Given the description of an element on the screen output the (x, y) to click on. 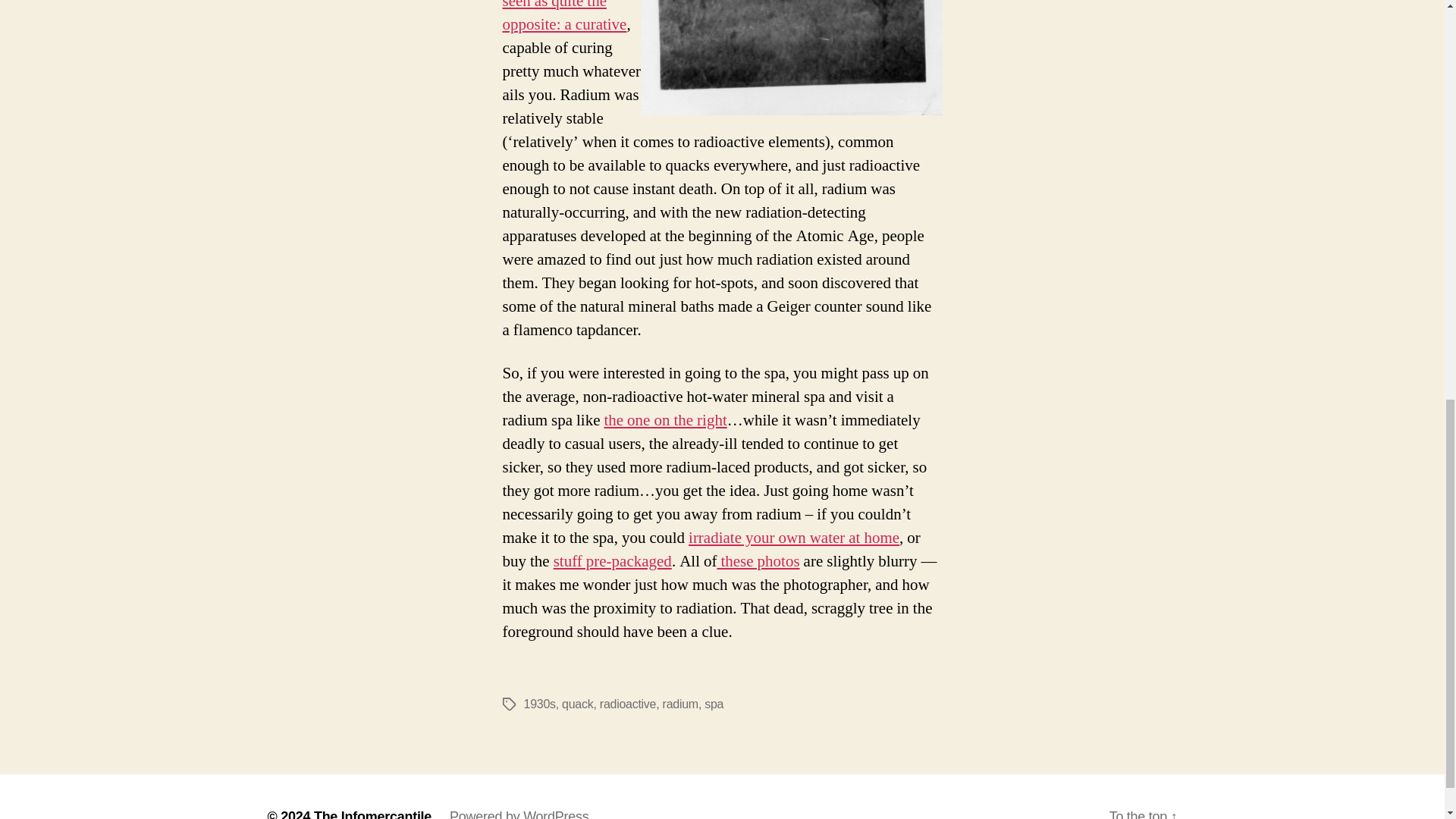
1930s (538, 703)
these photos (757, 561)
The Infomercantile (372, 814)
radium (680, 703)
the one on the right (665, 420)
radioactive (627, 703)
spa (713, 703)
stuff pre-packaged (612, 561)
irradiate your own water at home (793, 537)
quack (577, 703)
Powered by WordPress (518, 814)
